Given the description of an element on the screen output the (x, y) to click on. 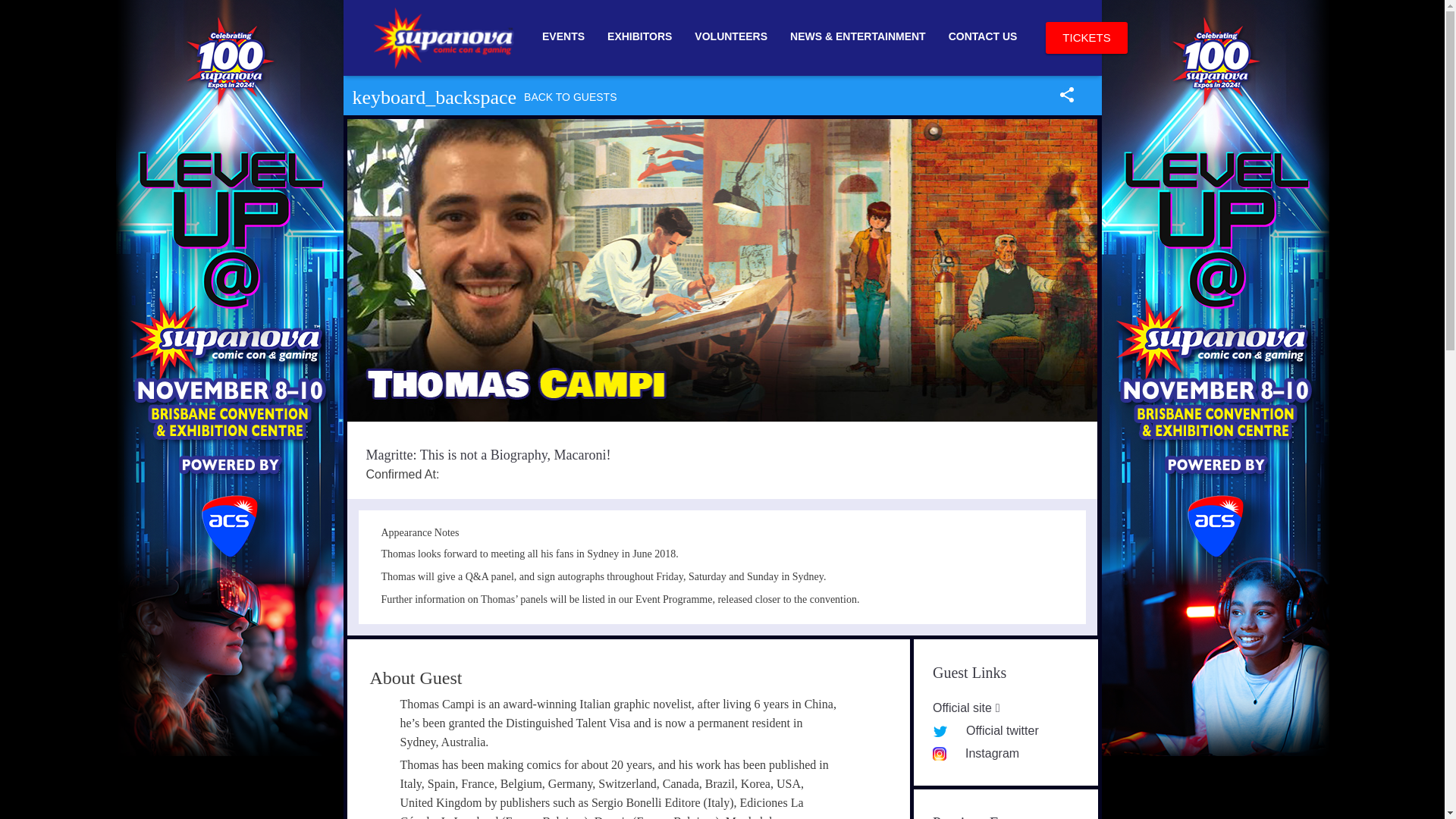
EVENTS (563, 37)
Instagram (976, 753)
CONTACT US (983, 37)
EXHIBITORS (638, 37)
Official twitter (986, 730)
VOLUNTEERS (730, 37)
TICKETS (1085, 38)
Official site (966, 707)
